Given the description of an element on the screen output the (x, y) to click on. 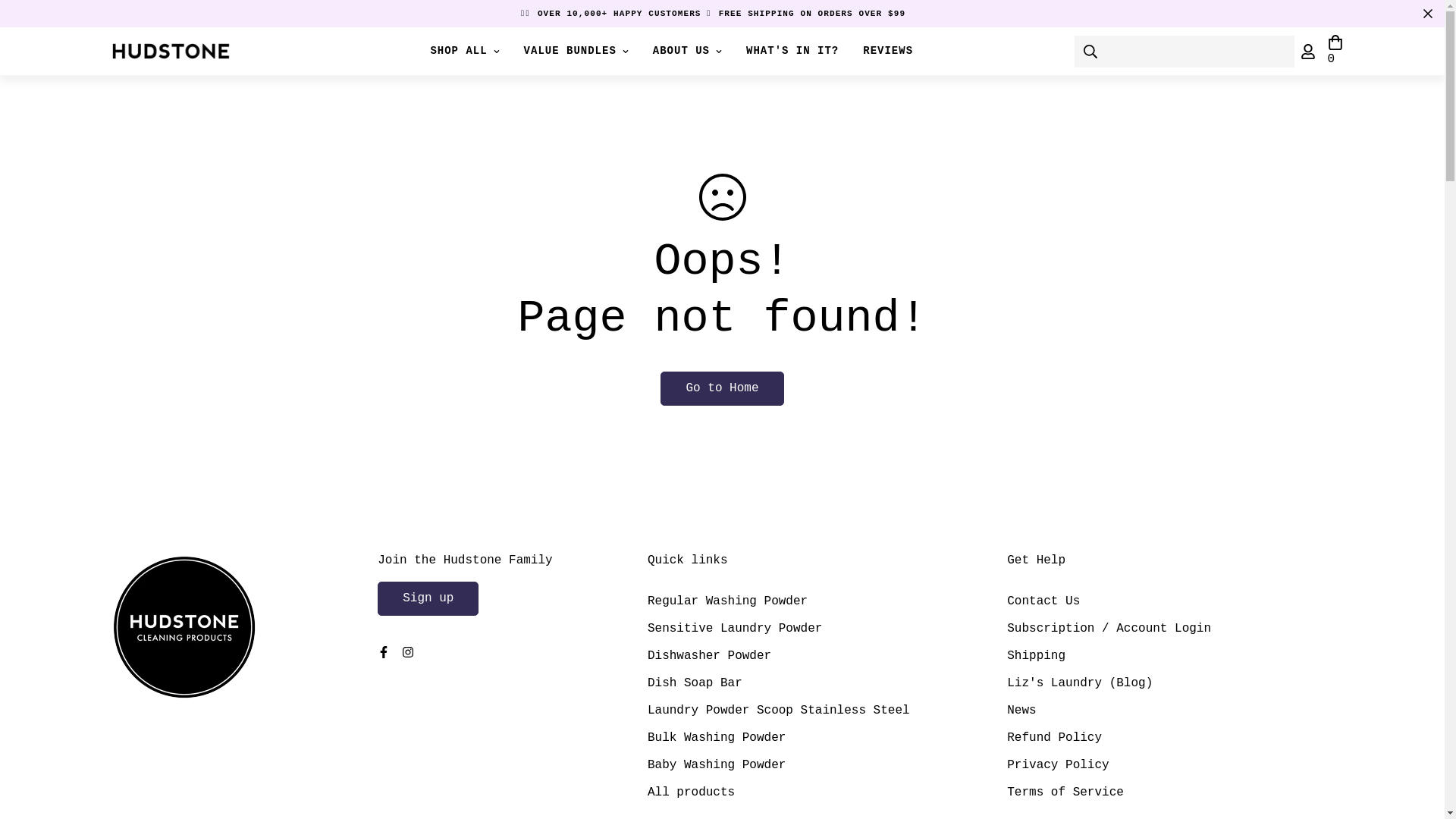
Shipping Element type: text (1036, 655)
Bulk Washing Powder Element type: text (716, 737)
Dishwasher Powder Element type: text (709, 655)
Subscription / Account Login Element type: text (1109, 628)
SHOP ALL Element type: text (464, 51)
0 Element type: text (1334, 51)
Liz's Laundry (Blog) Element type: text (1079, 683)
Refund Policy Element type: text (1054, 737)
Privacy Policy Element type: text (1057, 765)
Terms of Service Element type: text (1065, 792)
VALUE BUNDLES Element type: text (575, 51)
News Element type: text (1021, 710)
Hudstone Home Element type: hover (169, 50)
Laundry Powder Scoop Stainless Steel Element type: text (778, 710)
All products Element type: text (690, 792)
Regular Washing Powder Element type: text (727, 601)
REVIEWS Element type: text (887, 51)
WHAT'S IN IT? Element type: text (792, 51)
Baby Washing Powder Element type: text (716, 765)
Go to Home Element type: text (721, 388)
Dish Soap Bar Element type: text (694, 683)
Contact Us Element type: text (1043, 601)
ABOUT US Element type: text (687, 51)
Sign up Element type: text (427, 598)
Sensitive Laundry Powder Element type: text (734, 628)
